Given the description of an element on the screen output the (x, y) to click on. 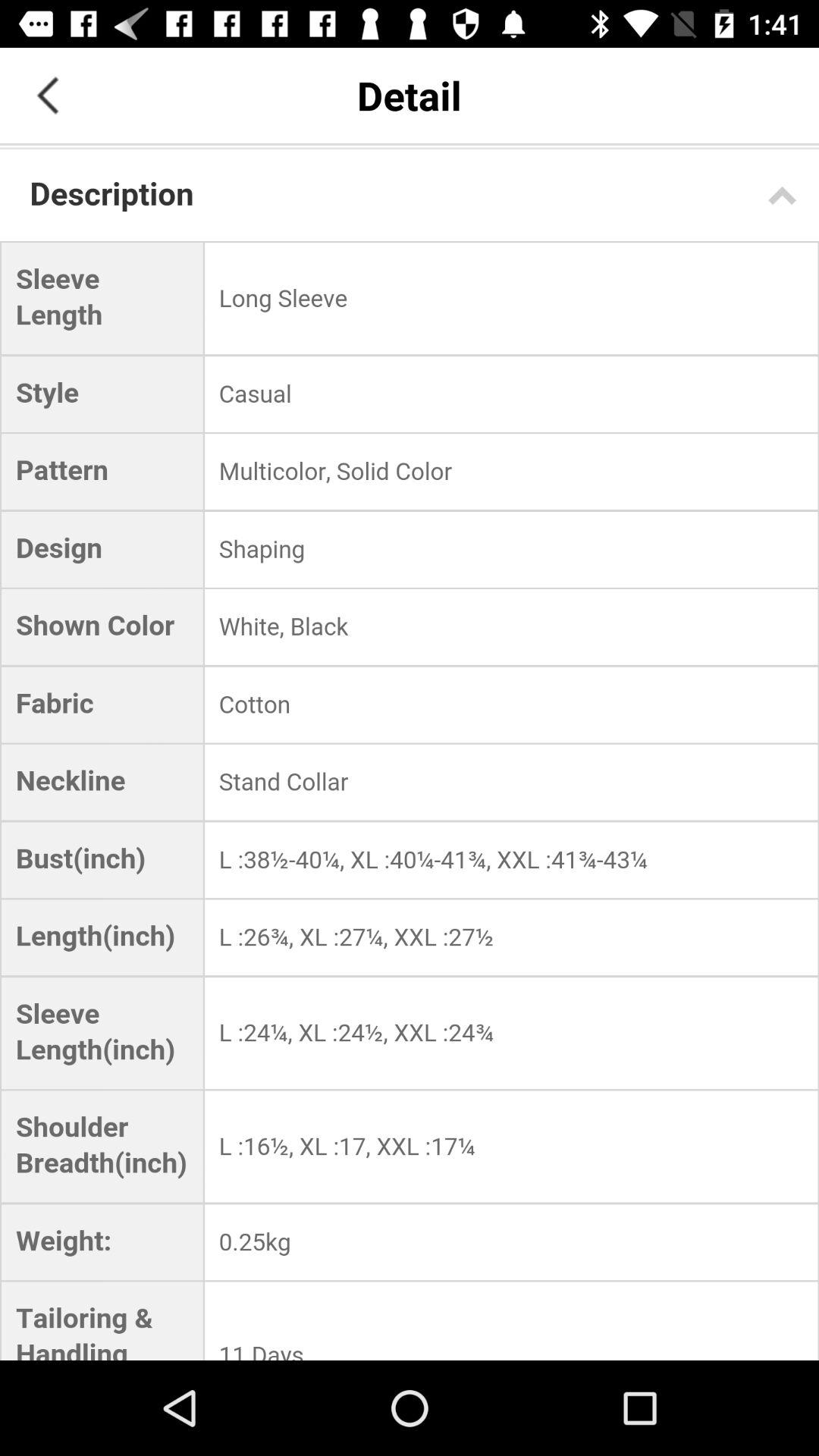
go back (47, 95)
